Given the description of an element on the screen output the (x, y) to click on. 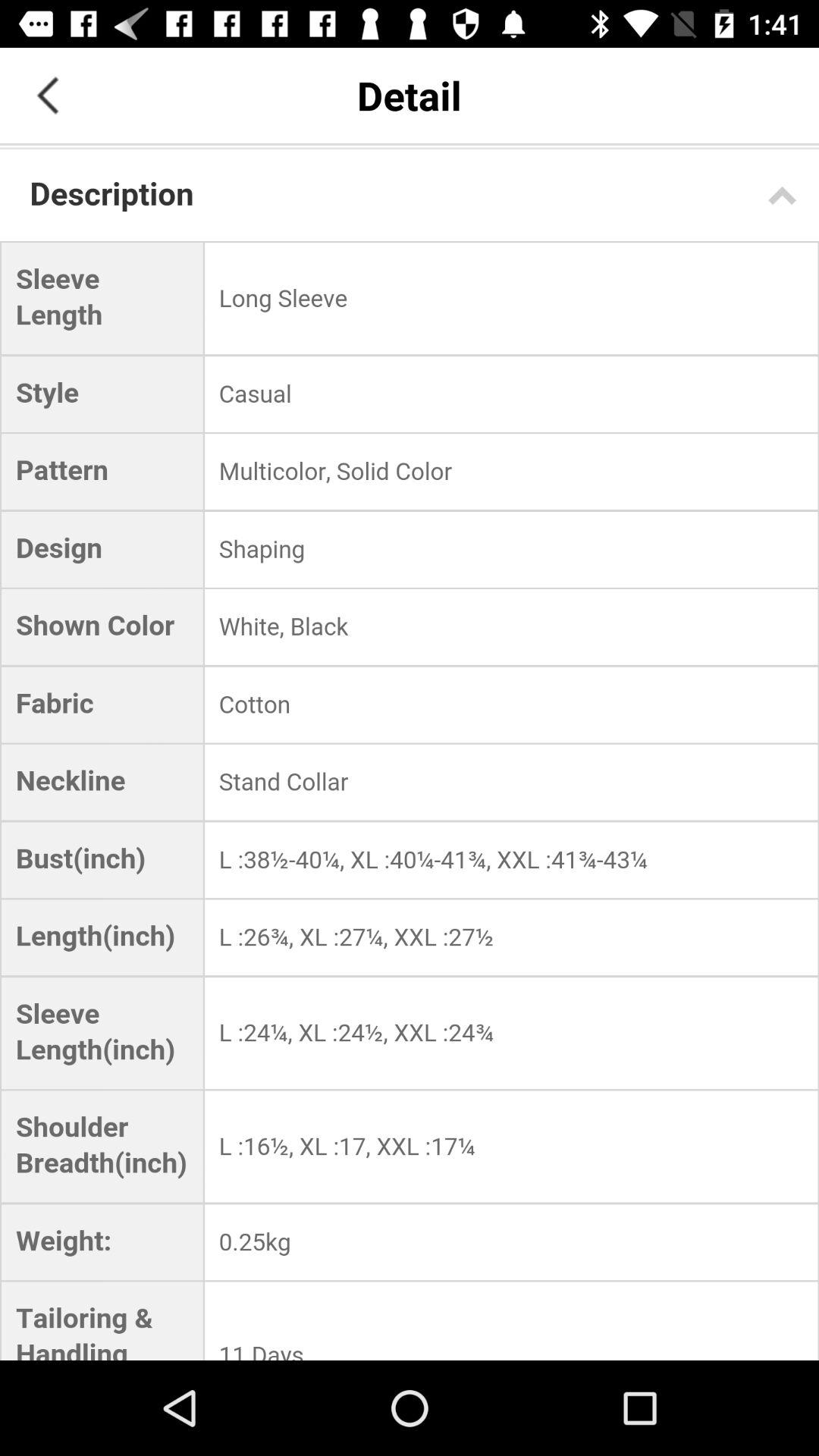
go back (47, 95)
